Given the description of an element on the screen output the (x, y) to click on. 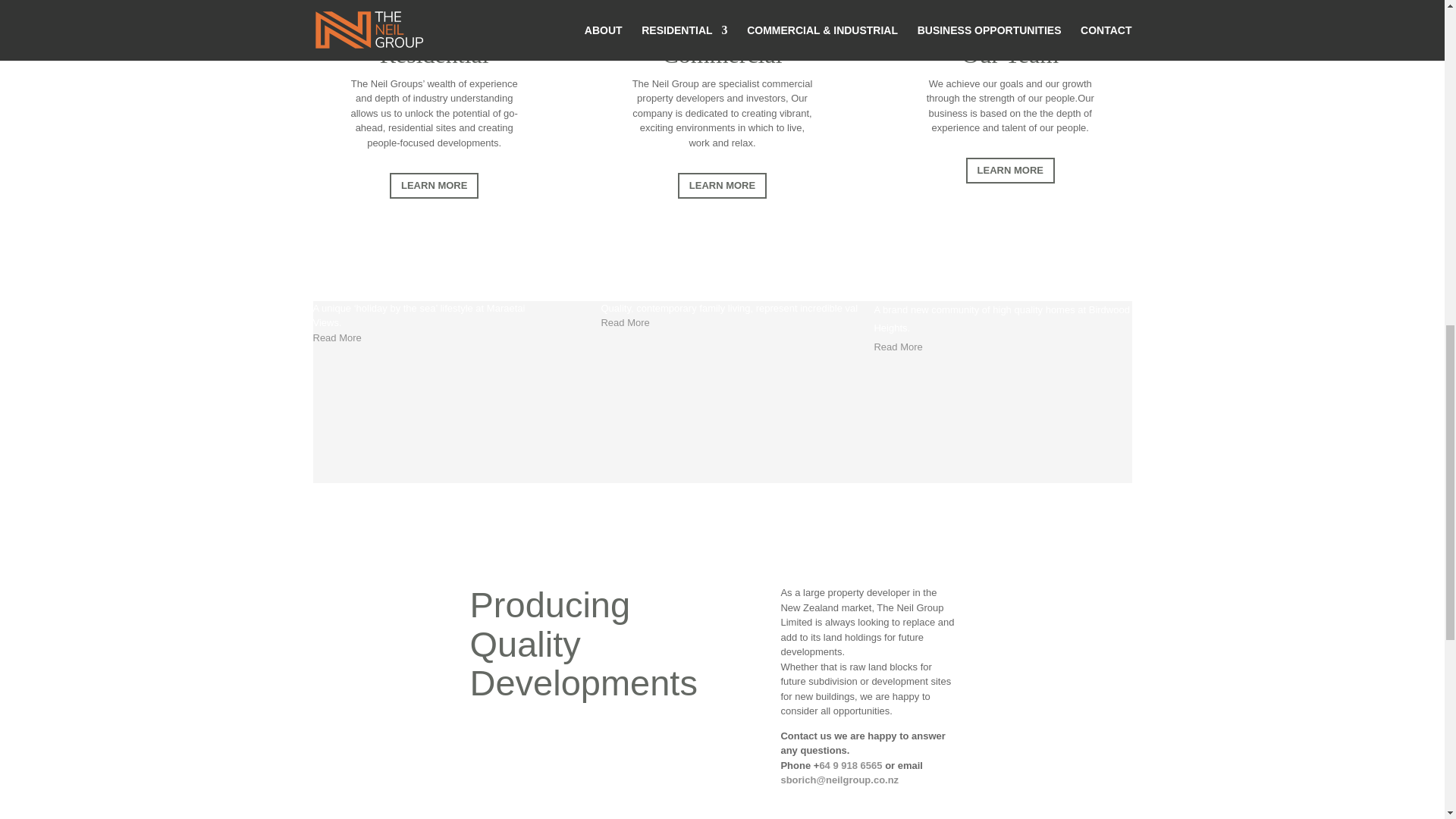
Read More (624, 322)
LEARN MORE (434, 185)
64 9 918 6565 (850, 765)
LEARN MORE (722, 185)
Read More (337, 337)
LEARN MORE (1010, 170)
Read More (897, 346)
